Given the description of an element on the screen output the (x, y) to click on. 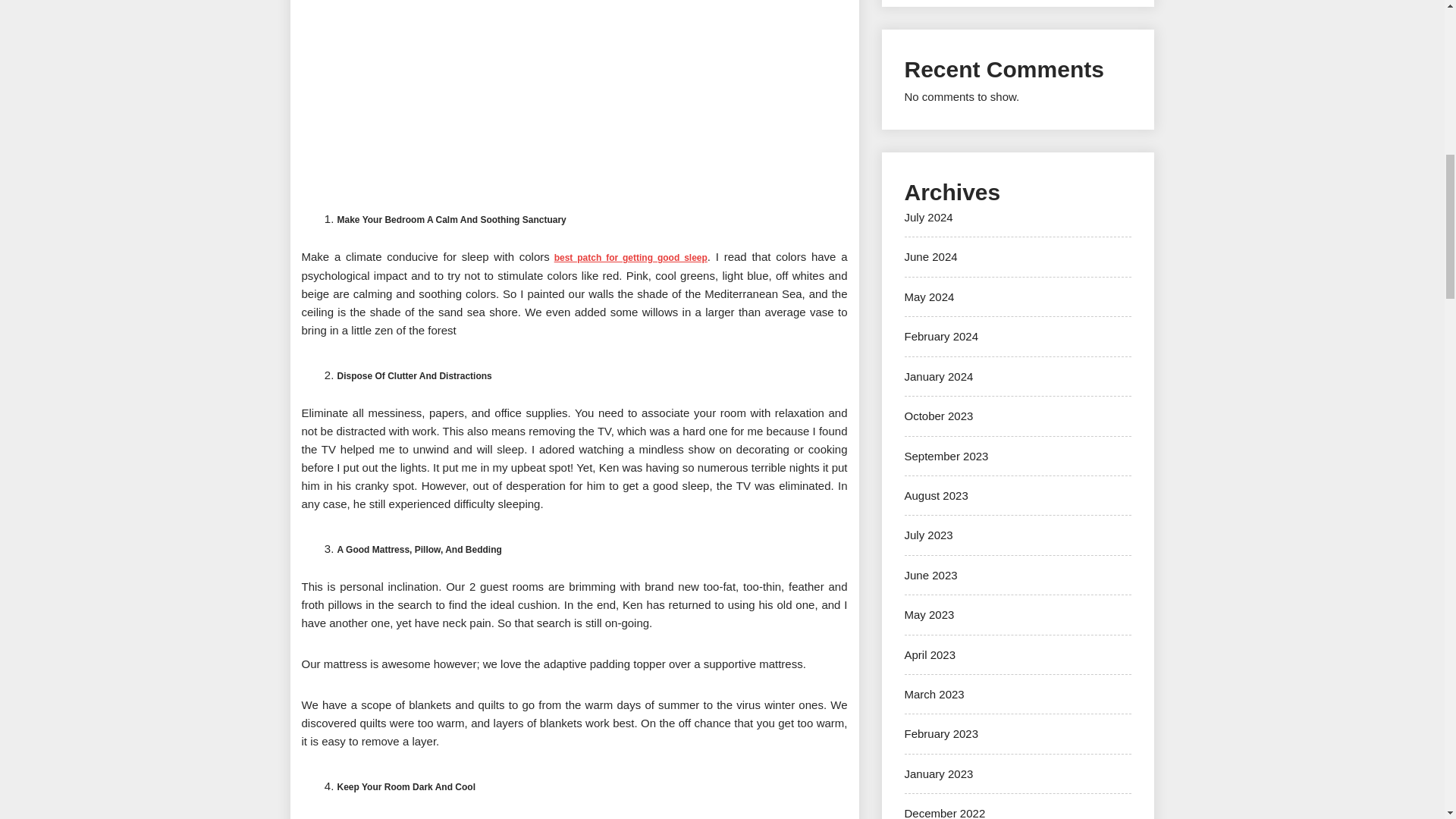
February 2024 (941, 336)
April 2023 (929, 654)
May 2024 (928, 296)
August 2023 (936, 495)
best patch for getting good sleep (630, 257)
July 2023 (928, 534)
June 2024 (930, 256)
July 2024 (928, 216)
June 2023 (930, 574)
January 2024 (938, 376)
September 2023 (946, 454)
October 2023 (938, 415)
May 2023 (928, 614)
